Given the description of an element on the screen output the (x, y) to click on. 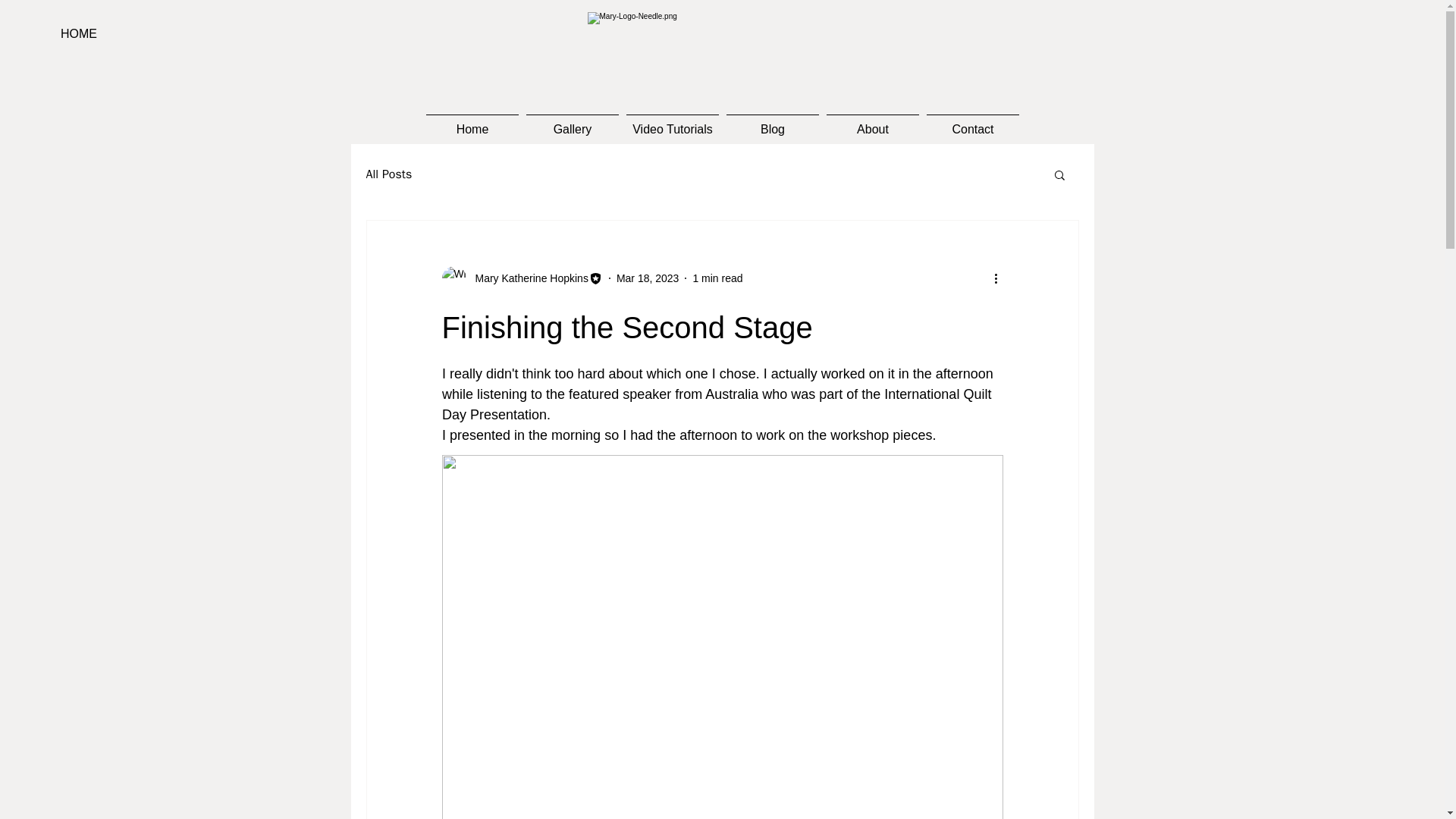
Home (472, 122)
Video Tutorials (672, 122)
Gallery (572, 122)
Mary Katherine Hopkins (521, 278)
1 min read (717, 277)
Blog (772, 122)
Contact (973, 122)
Mar 18, 2023 (647, 277)
All Posts (388, 174)
Mary Katherine Hopkins (526, 277)
About (872, 122)
